Given the description of an element on the screen output the (x, y) to click on. 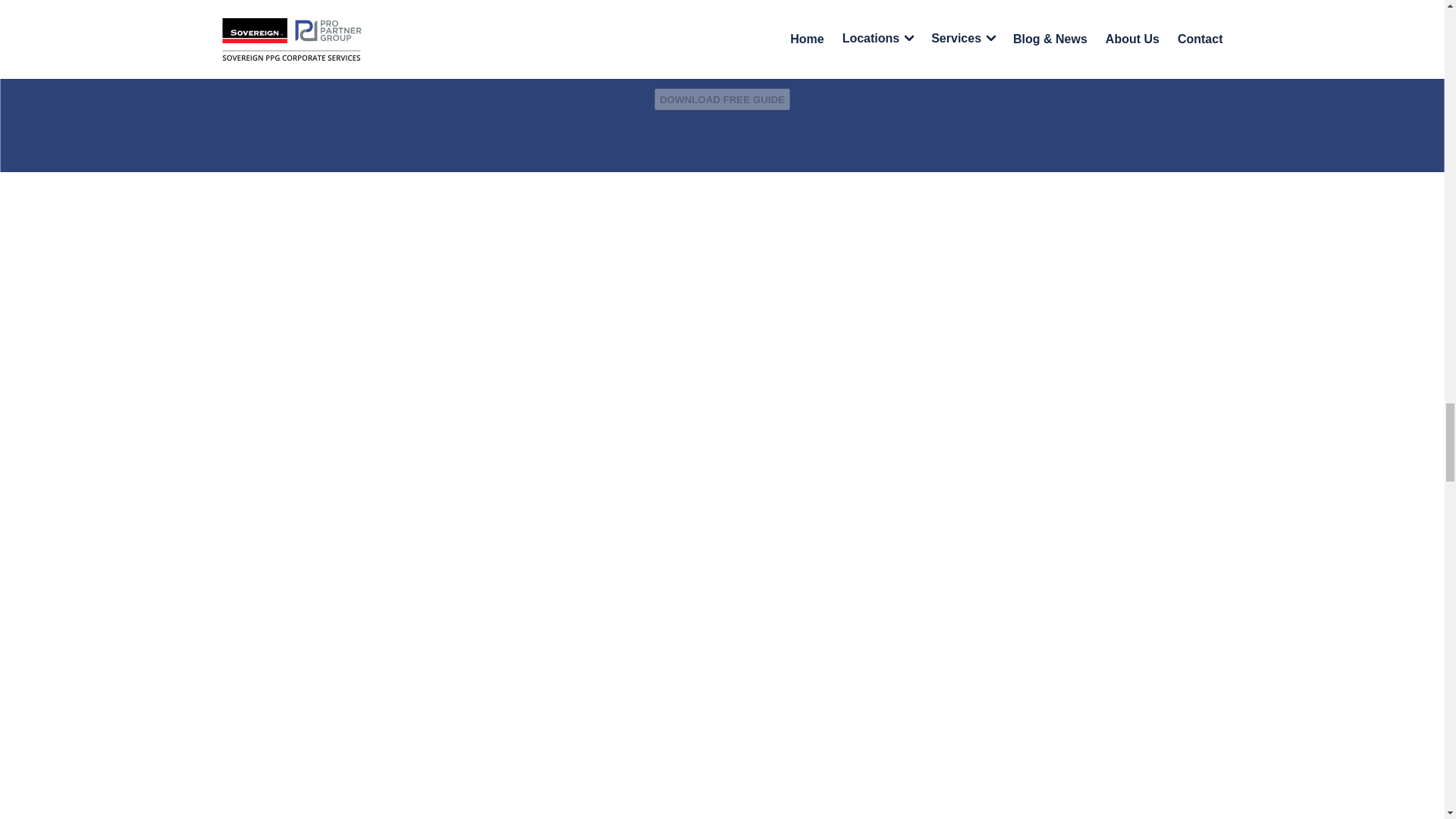
Download Guide (721, 98)
